Given the description of an element on the screen output the (x, y) to click on. 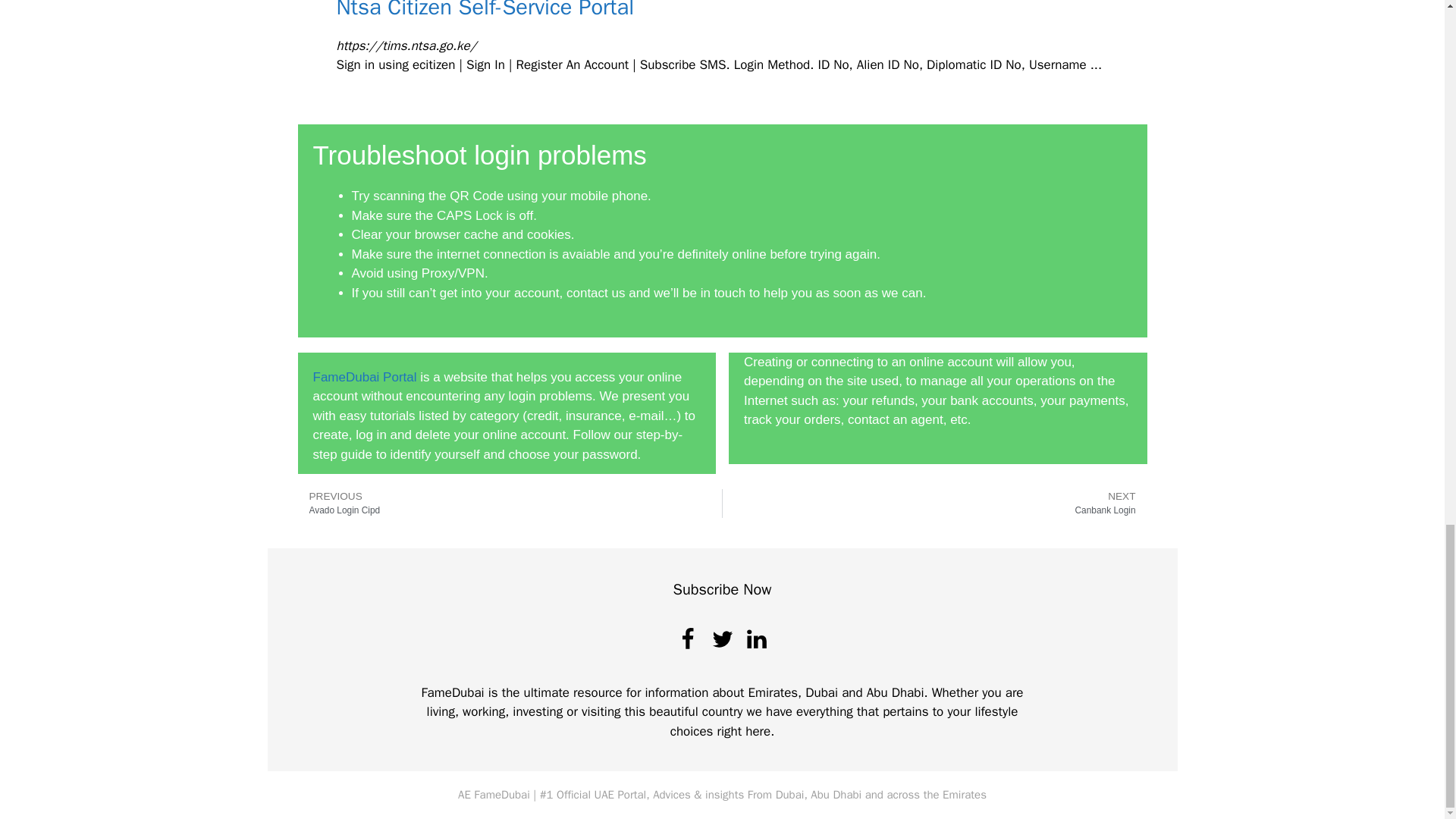
Ntsa Citizen Self-Service Portal (509, 502)
FameDubai Portal (485, 10)
